Given the description of an element on the screen output the (x, y) to click on. 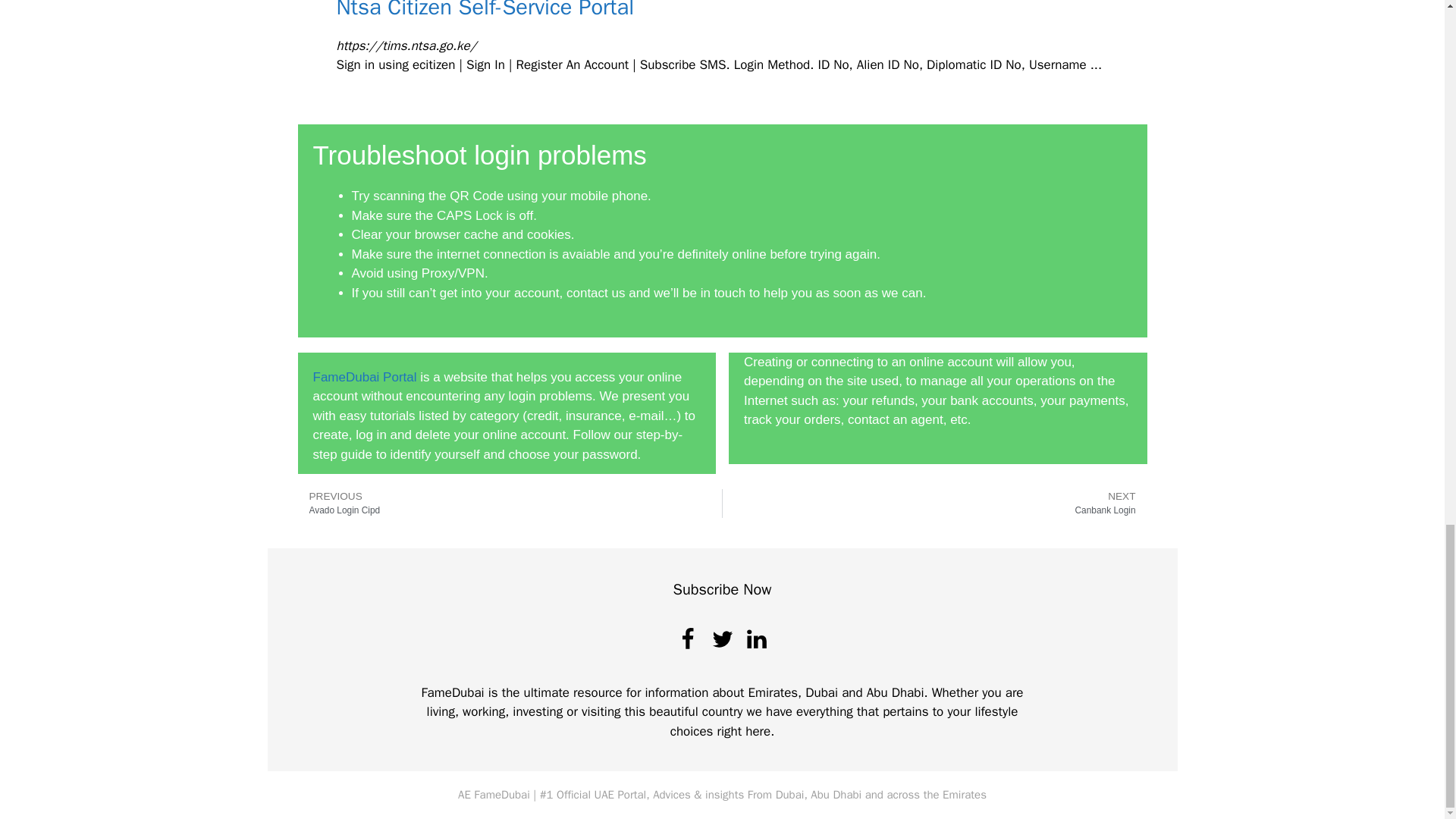
Ntsa Citizen Self-Service Portal (509, 502)
FameDubai Portal (485, 10)
